Given the description of an element on the screen output the (x, y) to click on. 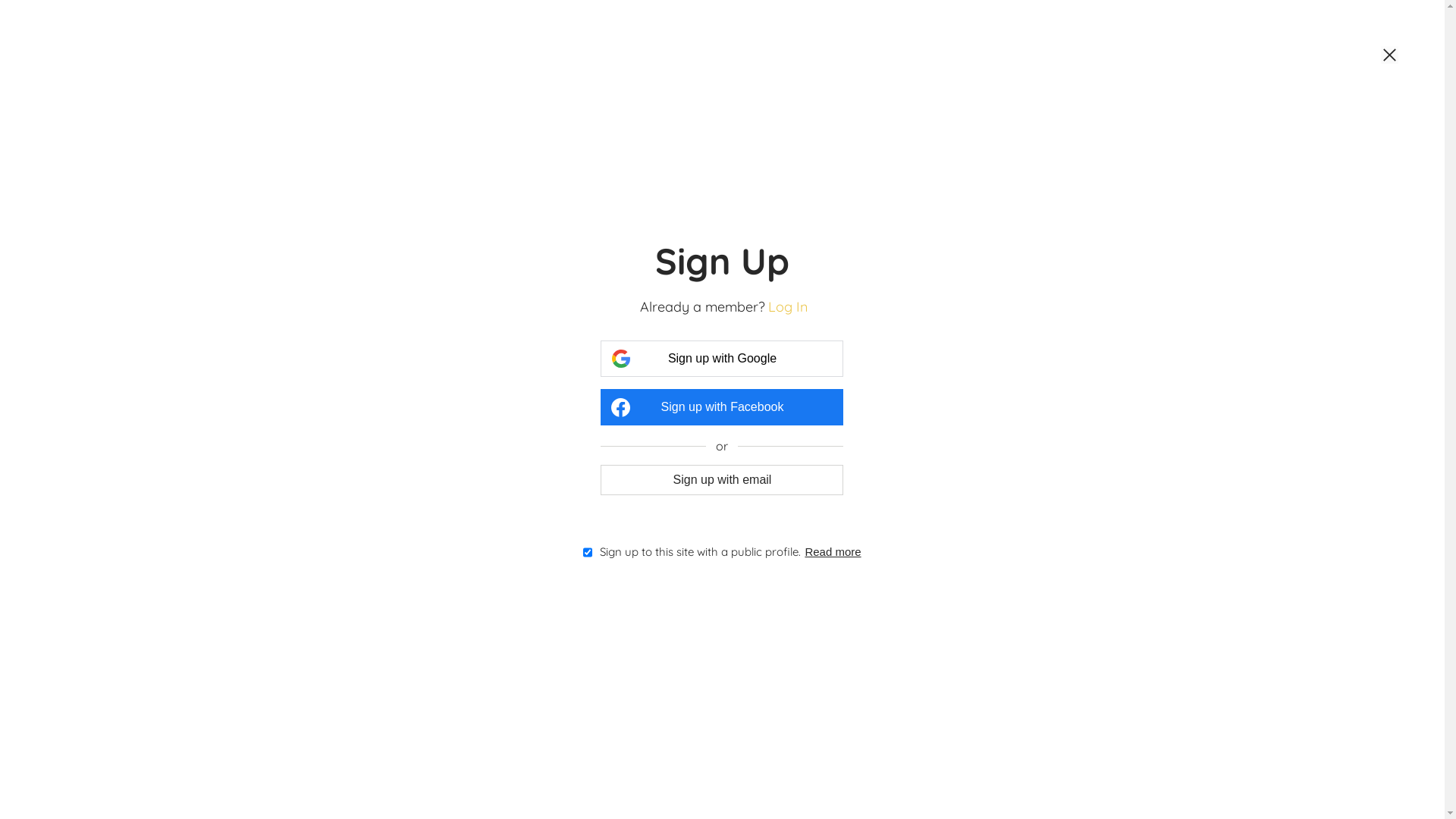
Read more Element type: text (832, 551)
Sign up with email Element type: text (721, 479)
Sign up with Google Element type: text (721, 358)
Log In Element type: text (787, 306)
Sign up with Facebook Element type: text (721, 407)
